Given the description of an element on the screen output the (x, y) to click on. 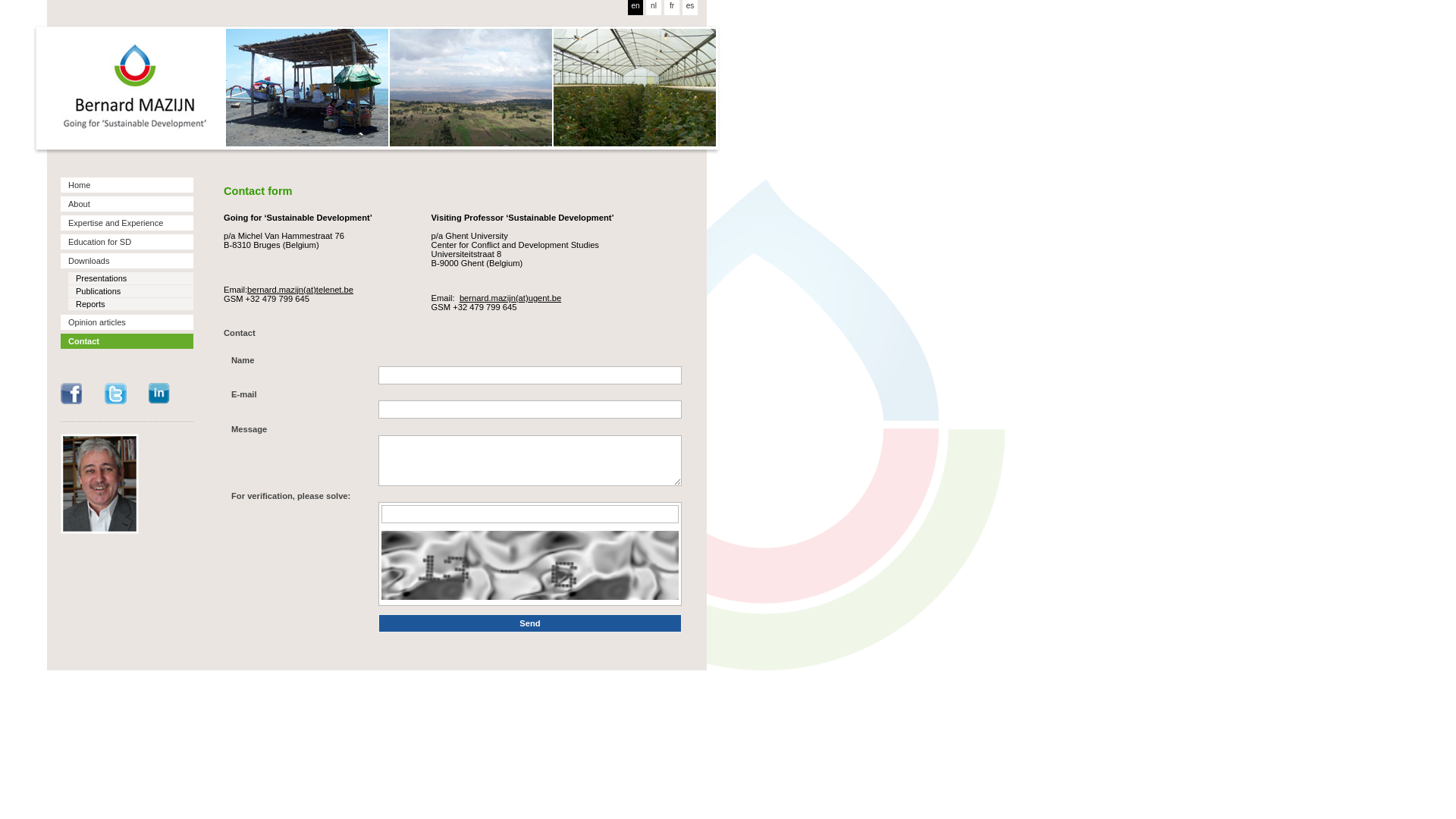
bernard.mazijn(at)telenet.be Element type: text (300, 289)
  Element type: text (124, 87)
Send Element type: text (529, 623)
Education for SD Element type: text (126, 241)
Home Element type: text (126, 184)
Opinion articles Element type: text (126, 321)
Expertise and Experience Element type: text (126, 222)
bernard.mazijn(at)ugent.be Element type: text (510, 297)
Contact Element type: text (126, 340)
Presentations Element type: text (130, 278)
Publications Element type: text (130, 291)
About Element type: text (126, 203)
Reports Element type: text (130, 304)
Downloads Element type: text (126, 260)
